Given the description of an element on the screen output the (x, y) to click on. 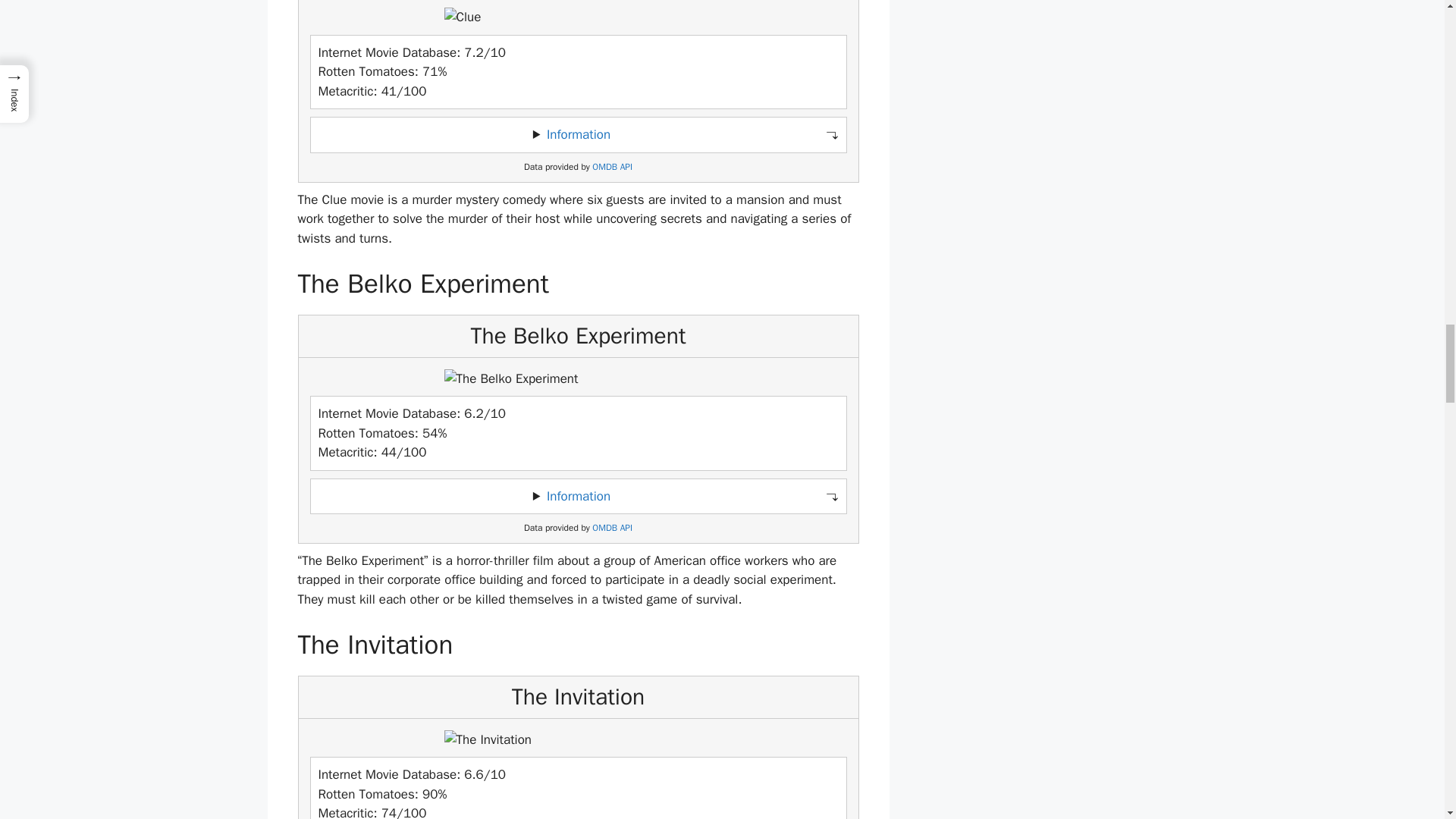
OMDB API (611, 527)
Information (578, 496)
Information (578, 134)
OMDB API (611, 166)
